Given the description of an element on the screen output the (x, y) to click on. 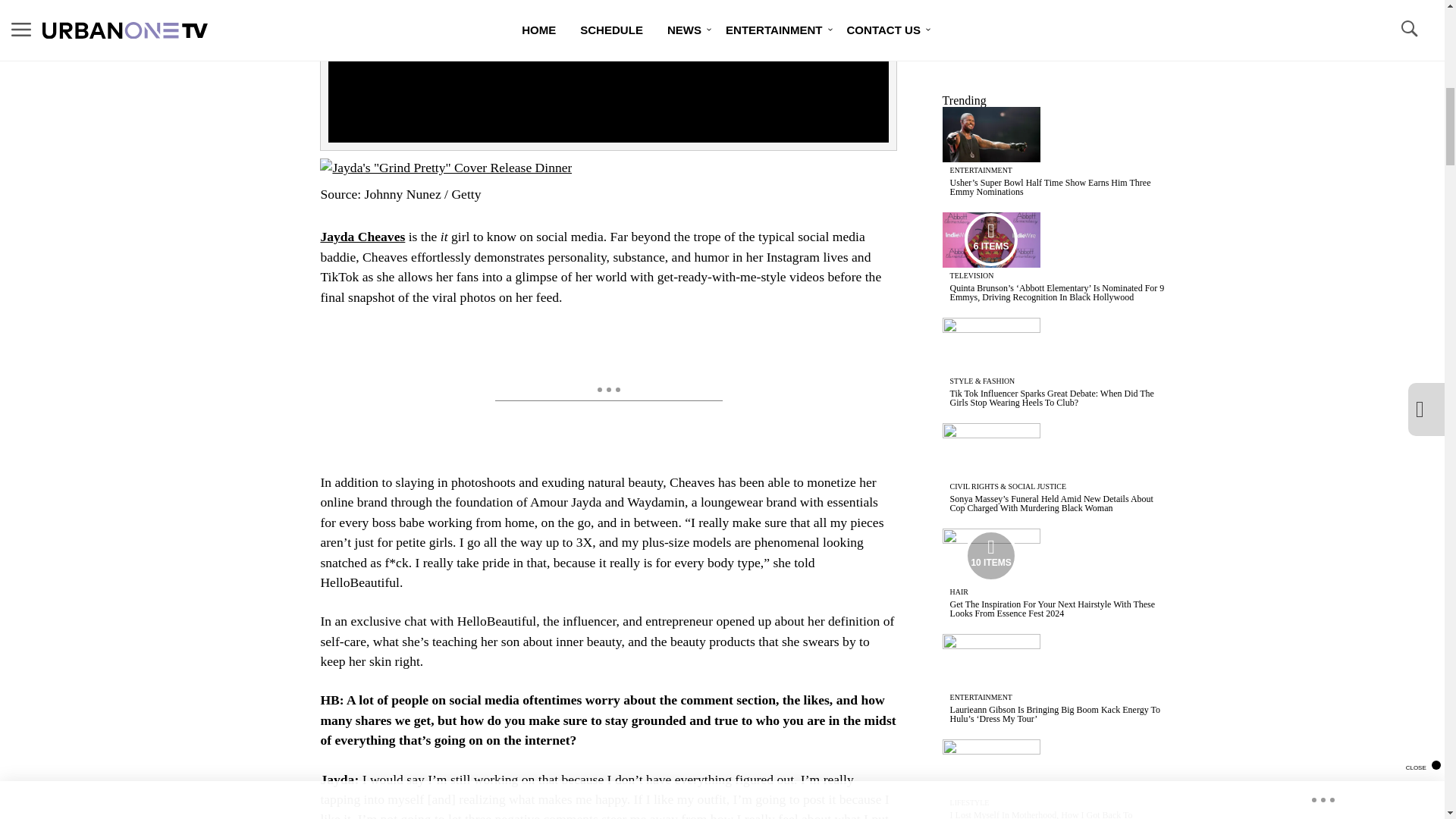
Jayda Cheaves (362, 236)
ENTERTAINMENT (980, 170)
Media Playlist (990, 239)
Media Playlist (990, 555)
